Given the description of an element on the screen output the (x, y) to click on. 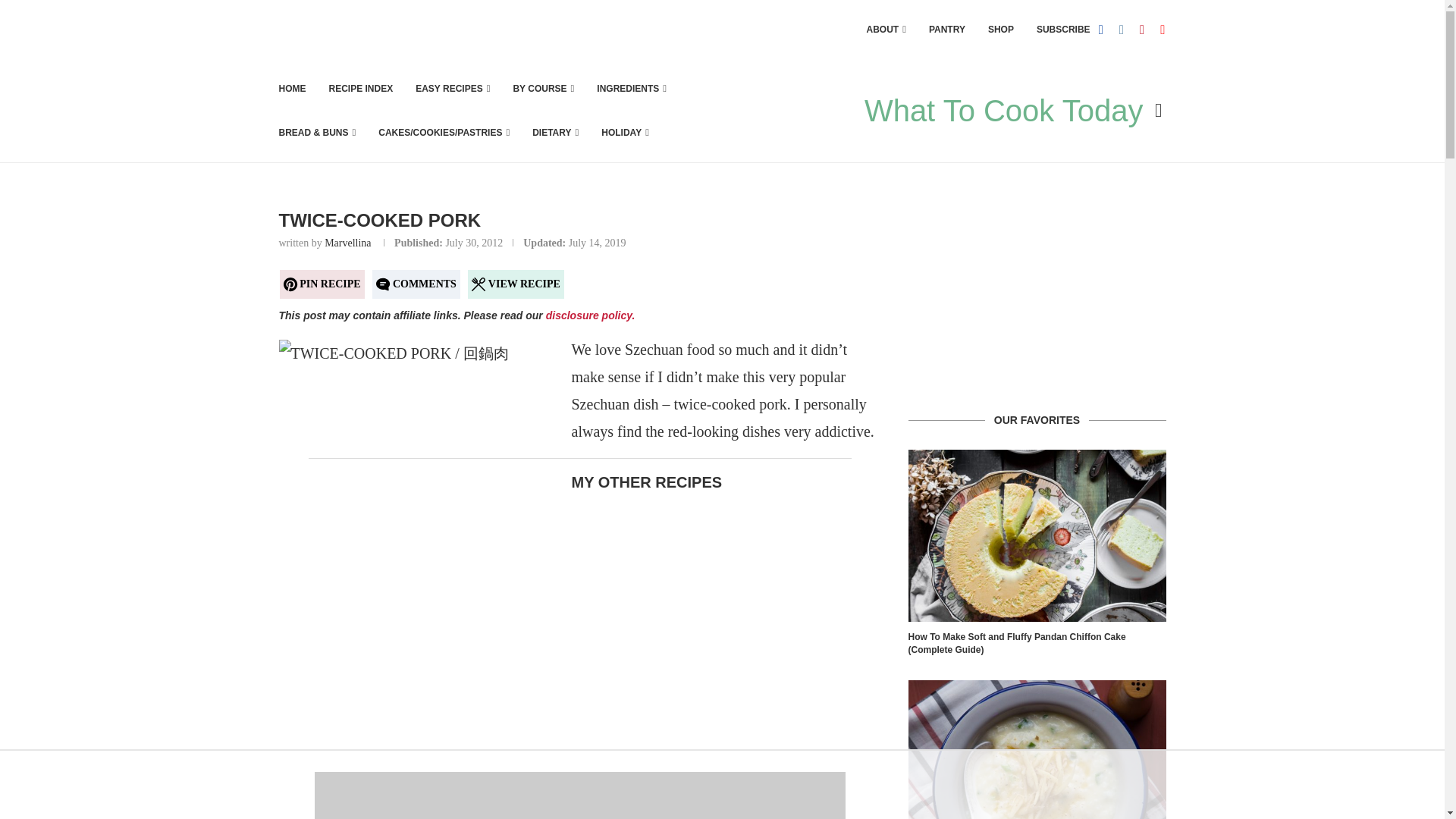
COMMENTS (416, 284)
VIEW RECIPE (515, 284)
